Given the description of an element on the screen output the (x, y) to click on. 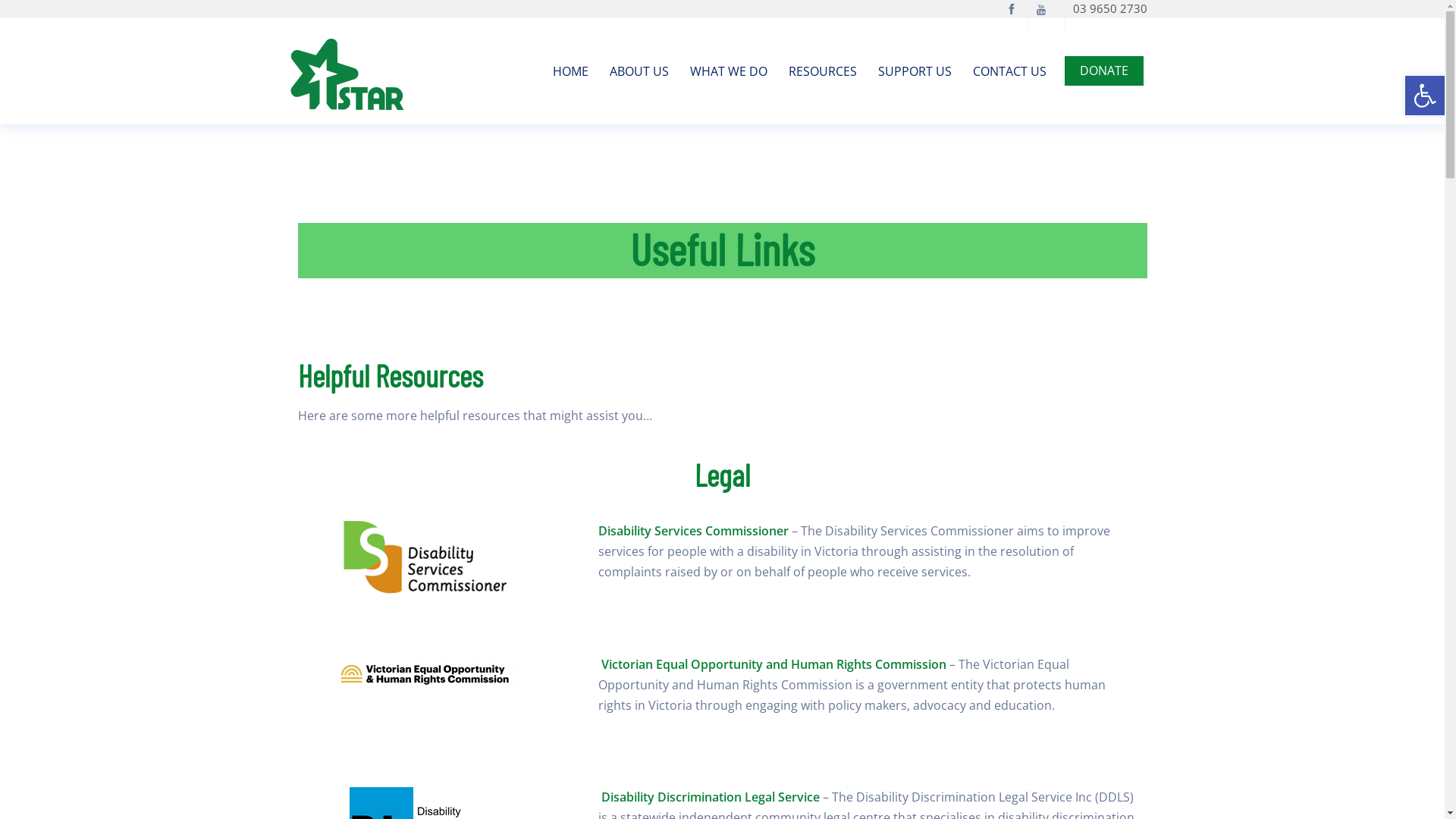
Screenshot 2021-10-18 095043 Element type: hover (425, 673)
03 9650 2730 Element type: text (1109, 7)
WHAT WE DO Element type: text (728, 71)
CONTACT US Element type: text (1008, 71)
Disability Services Commissioner Element type: text (692, 530)
Victorian Equal Opportunity and Human Rights Commission Element type: text (772, 663)
DONATE Element type: text (1103, 70)
HOME Element type: text (569, 71)
Disability Discrimination Legal Service Element type: text (709, 796)
SUPPORT US Element type: text (914, 71)
RESOURCES Element type: text (822, 71)
Open toolbar
Accessibility Tools Element type: text (1424, 95)
ABOUT US Element type: text (639, 71)
